Given the description of an element on the screen output the (x, y) to click on. 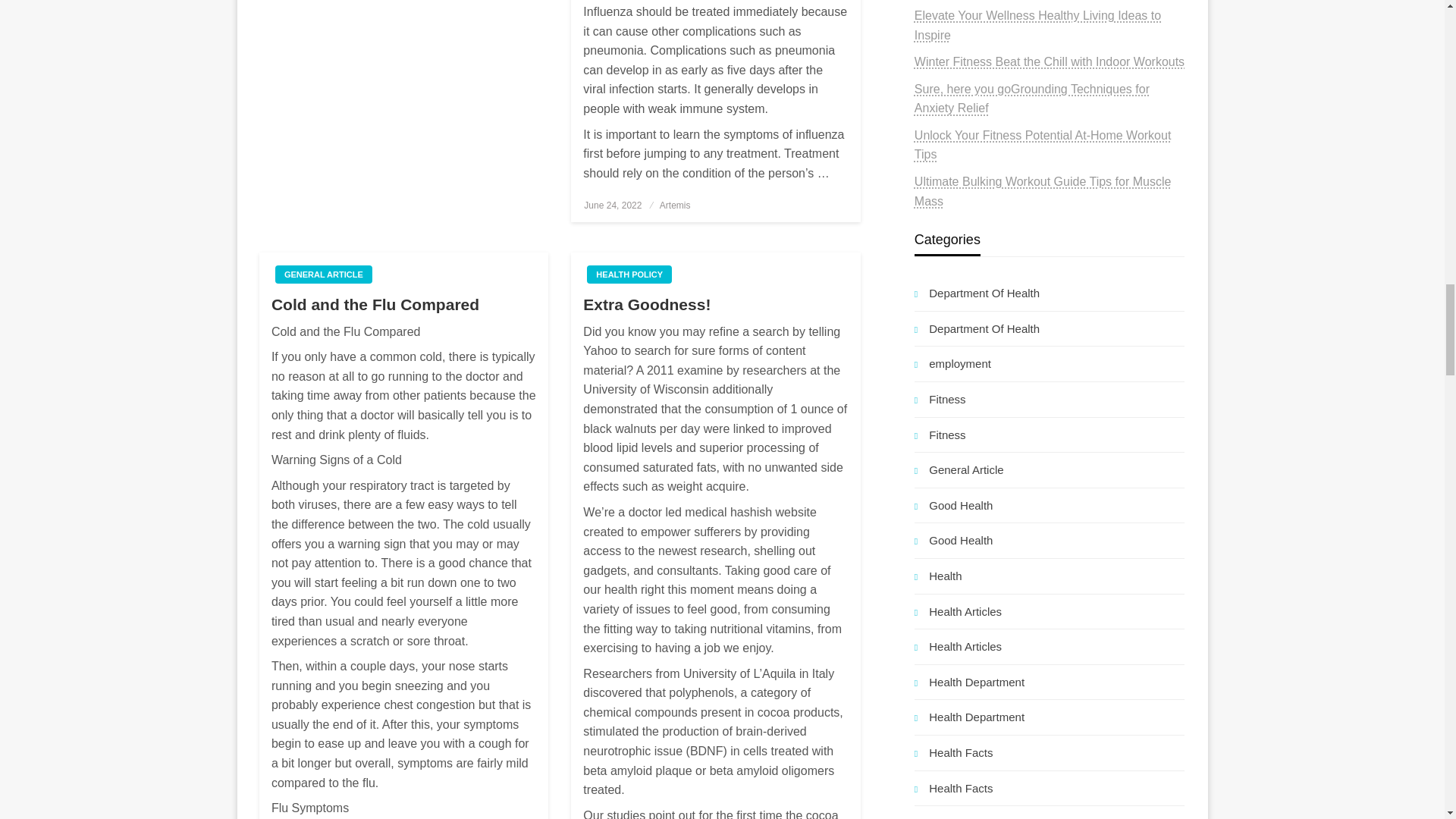
Artemis (674, 204)
